Given the description of an element on the screen output the (x, y) to click on. 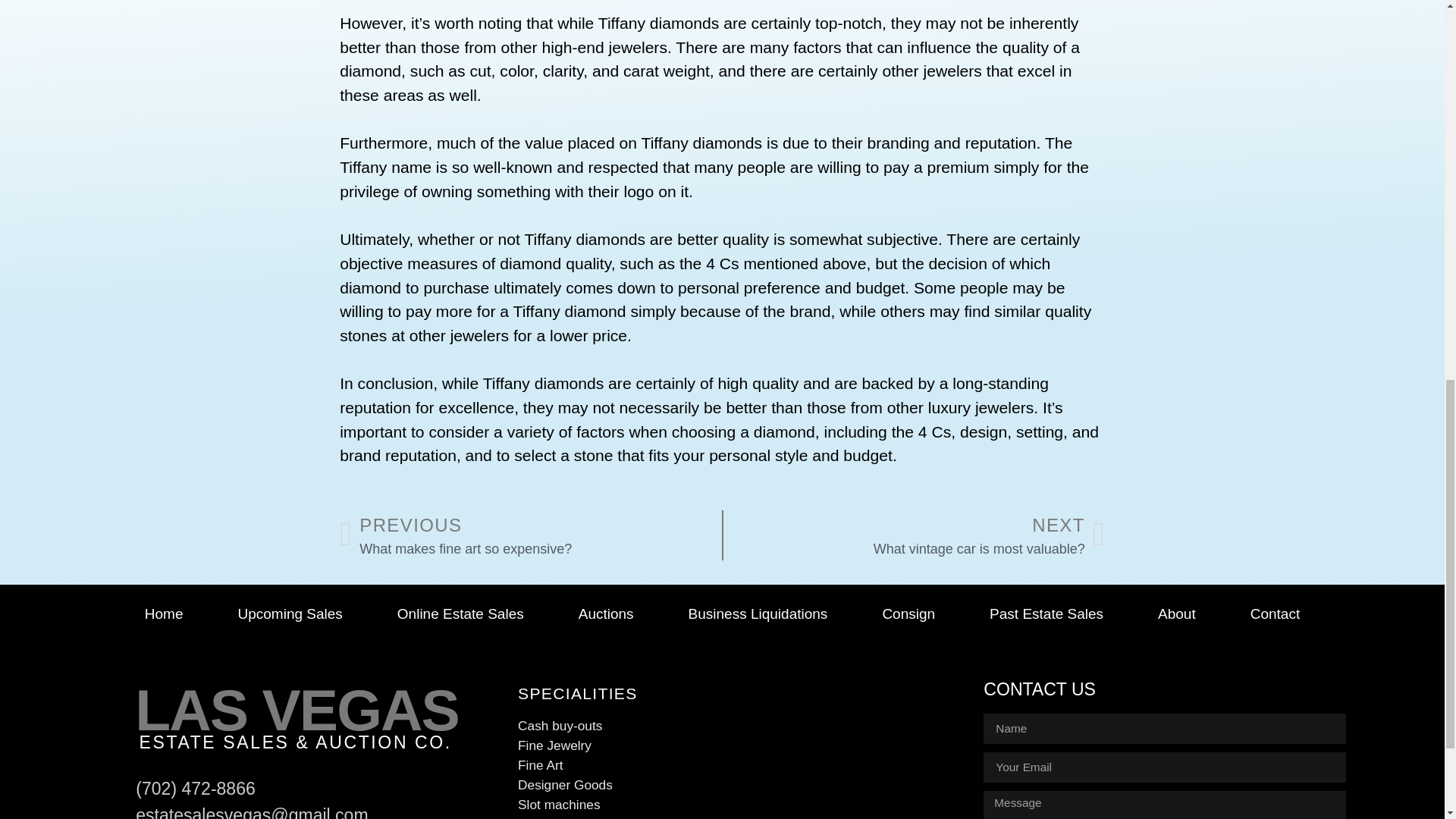
About (1176, 614)
Consign (908, 614)
Auctions (606, 614)
Home (163, 614)
Contact (1275, 614)
Business Liquidations (914, 535)
Past Estate Sales (758, 614)
Upcoming Sales (1045, 614)
